Given the description of an element on the screen output the (x, y) to click on. 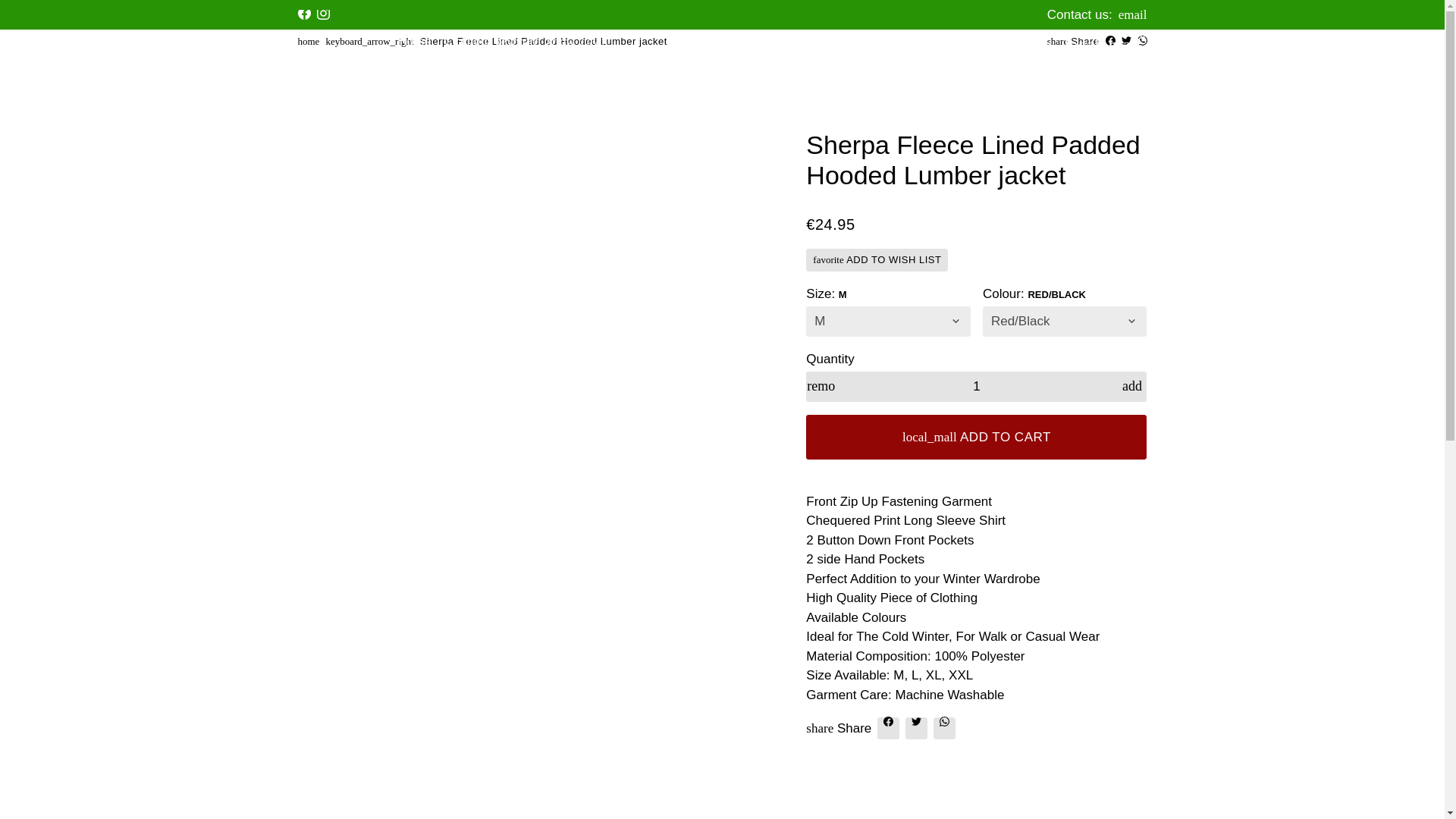
SuperStuff Workwear on Facebook (303, 13)
Search (1028, 44)
Log In (871, 44)
Superstuff workwear (307, 41)
SuperStuff Workwear on Instagram (323, 13)
1 (976, 386)
Cart (1102, 44)
